Given the description of an element on the screen output the (x, y) to click on. 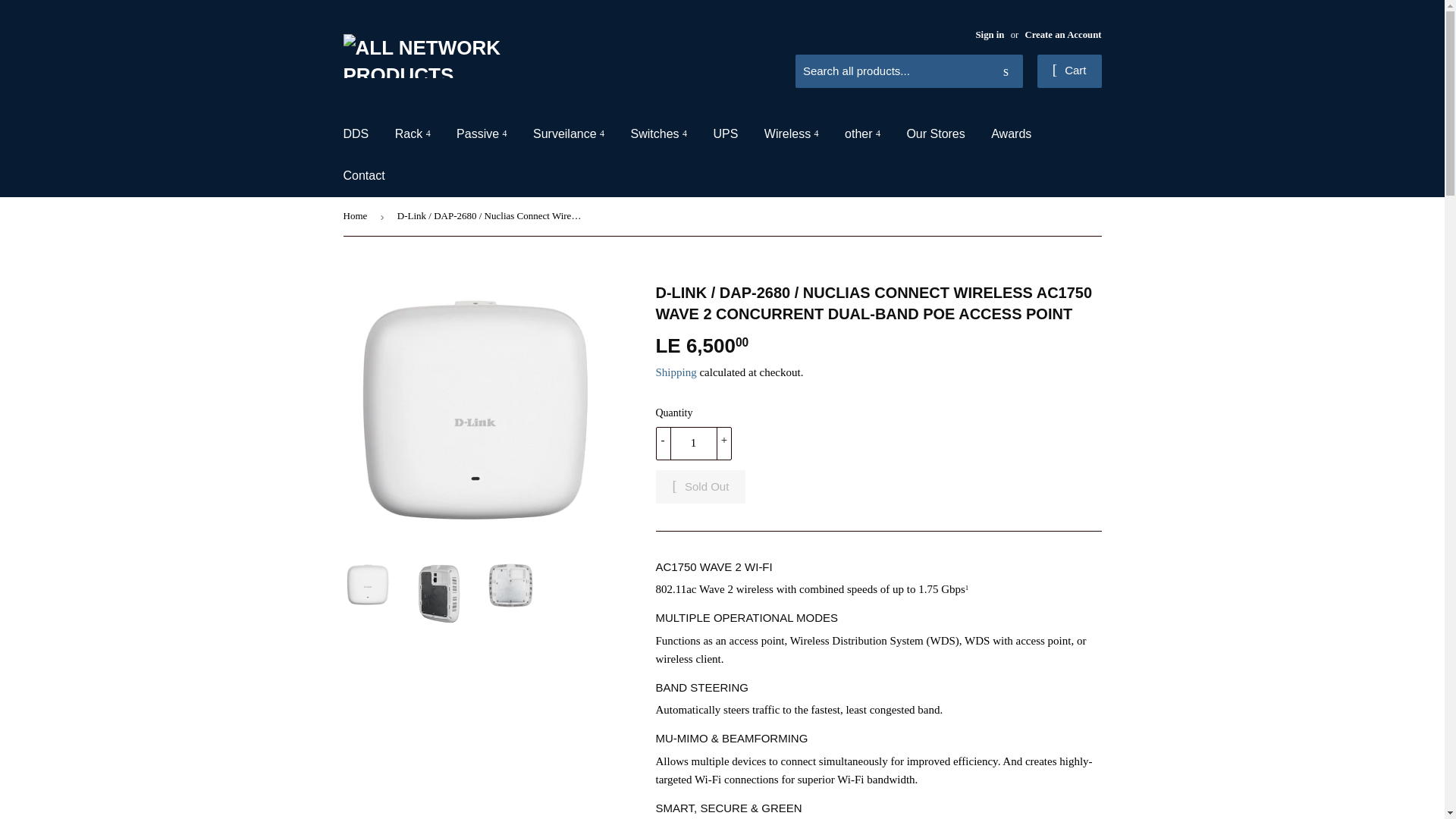
Create an Account (1062, 34)
Sign in (989, 34)
Cart (1069, 70)
Search (1005, 71)
1 (692, 443)
